Given the description of an element on the screen output the (x, y) to click on. 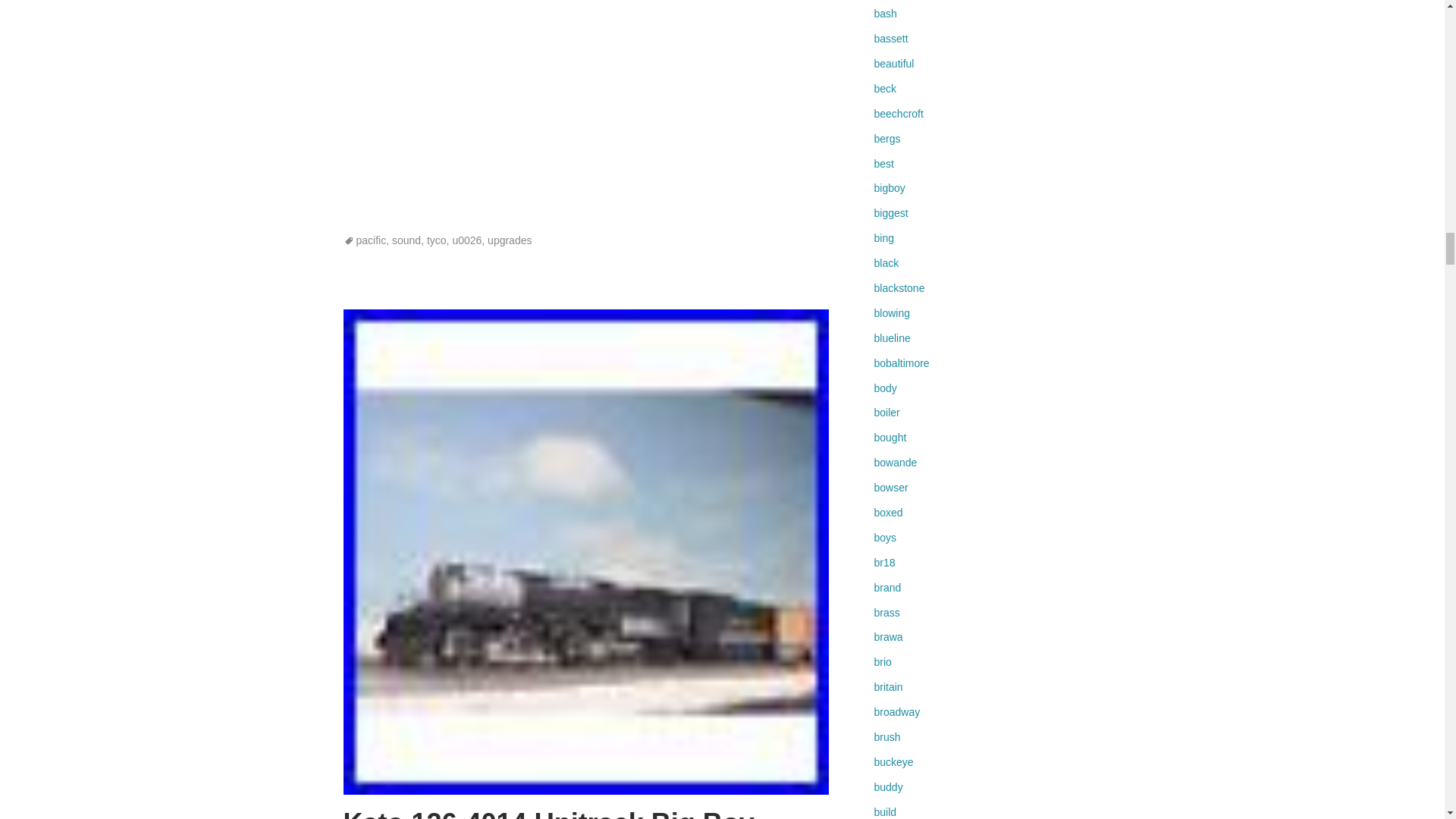
sound (405, 240)
pacific (371, 240)
